Given the description of an element on the screen output the (x, y) to click on. 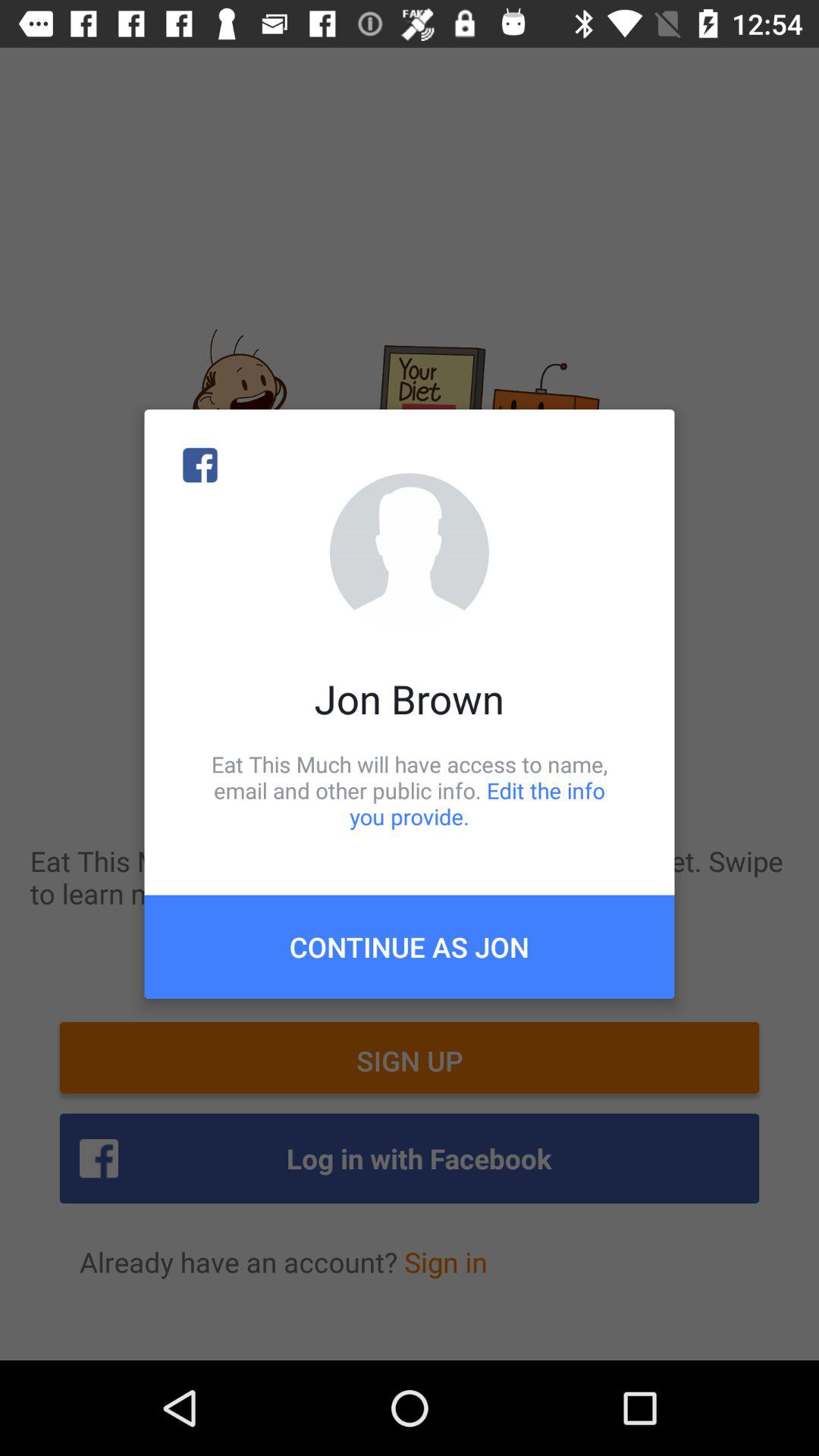
launch the continue as jon icon (409, 946)
